Given the description of an element on the screen output the (x, y) to click on. 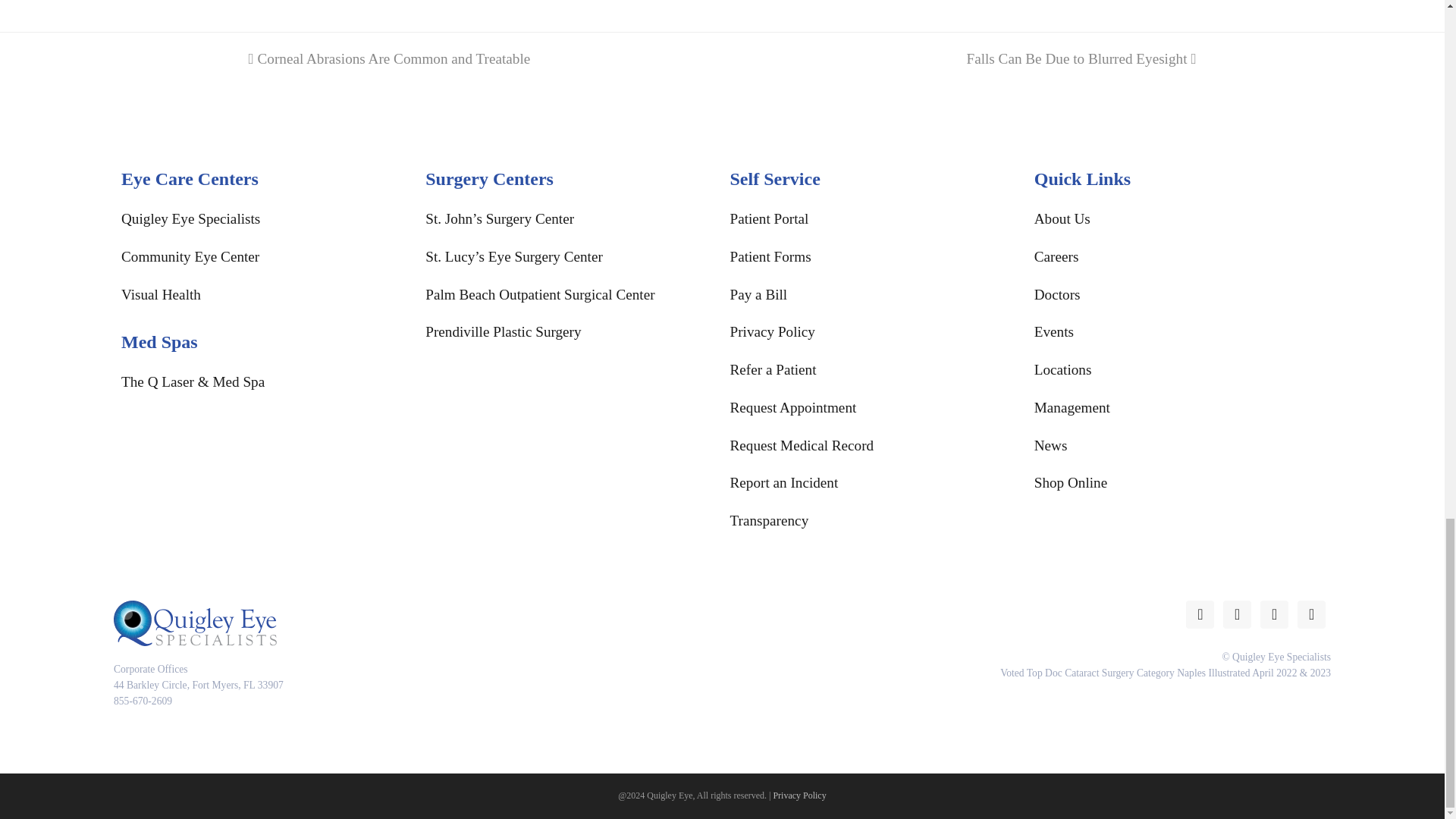
quigley-logo (194, 623)
